Given the description of an element on the screen output the (x, y) to click on. 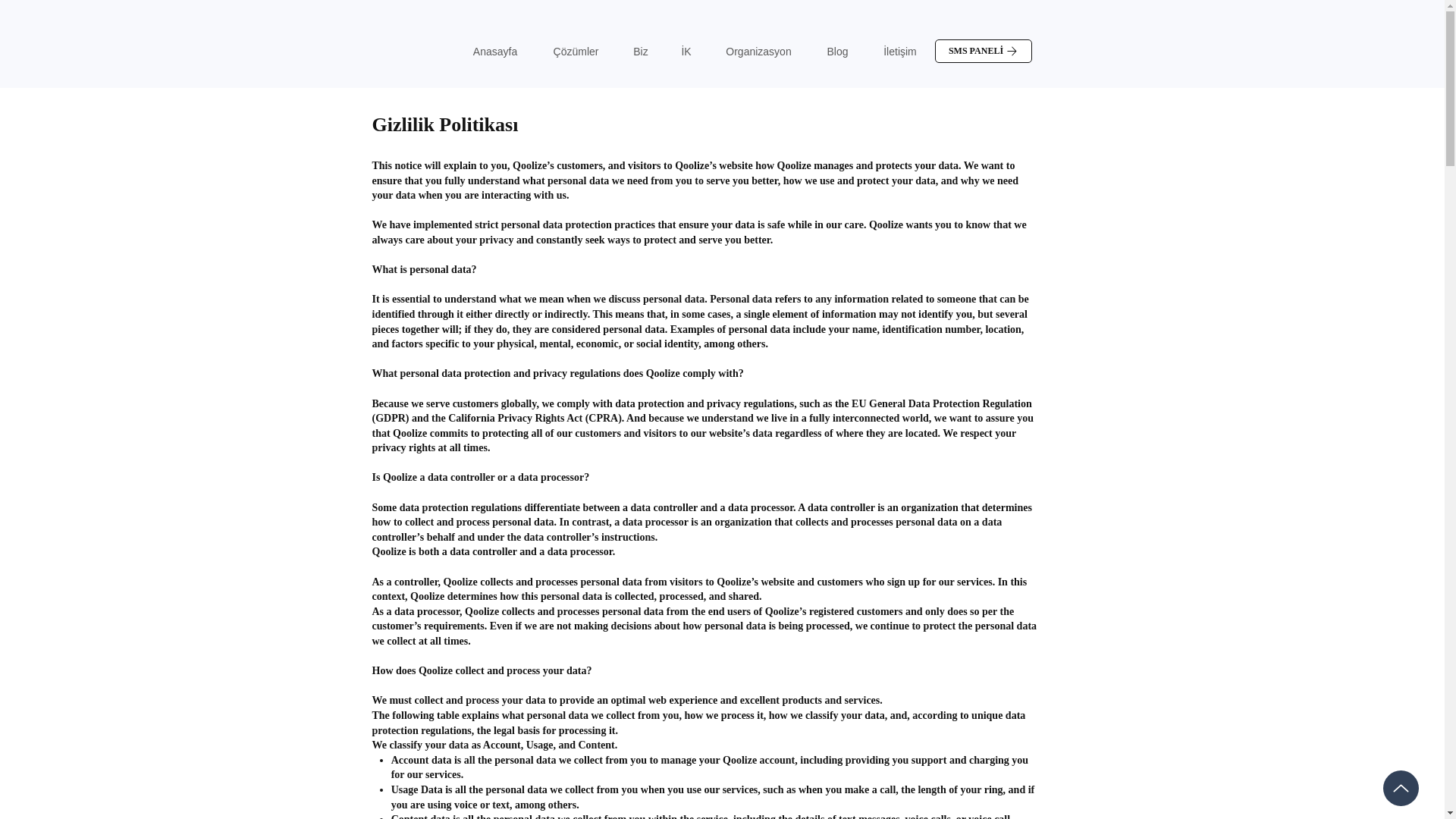
Anasayfa (494, 51)
Blog (837, 51)
Organizasyon (758, 51)
Biz (641, 51)
